Given the description of an element on the screen output the (x, y) to click on. 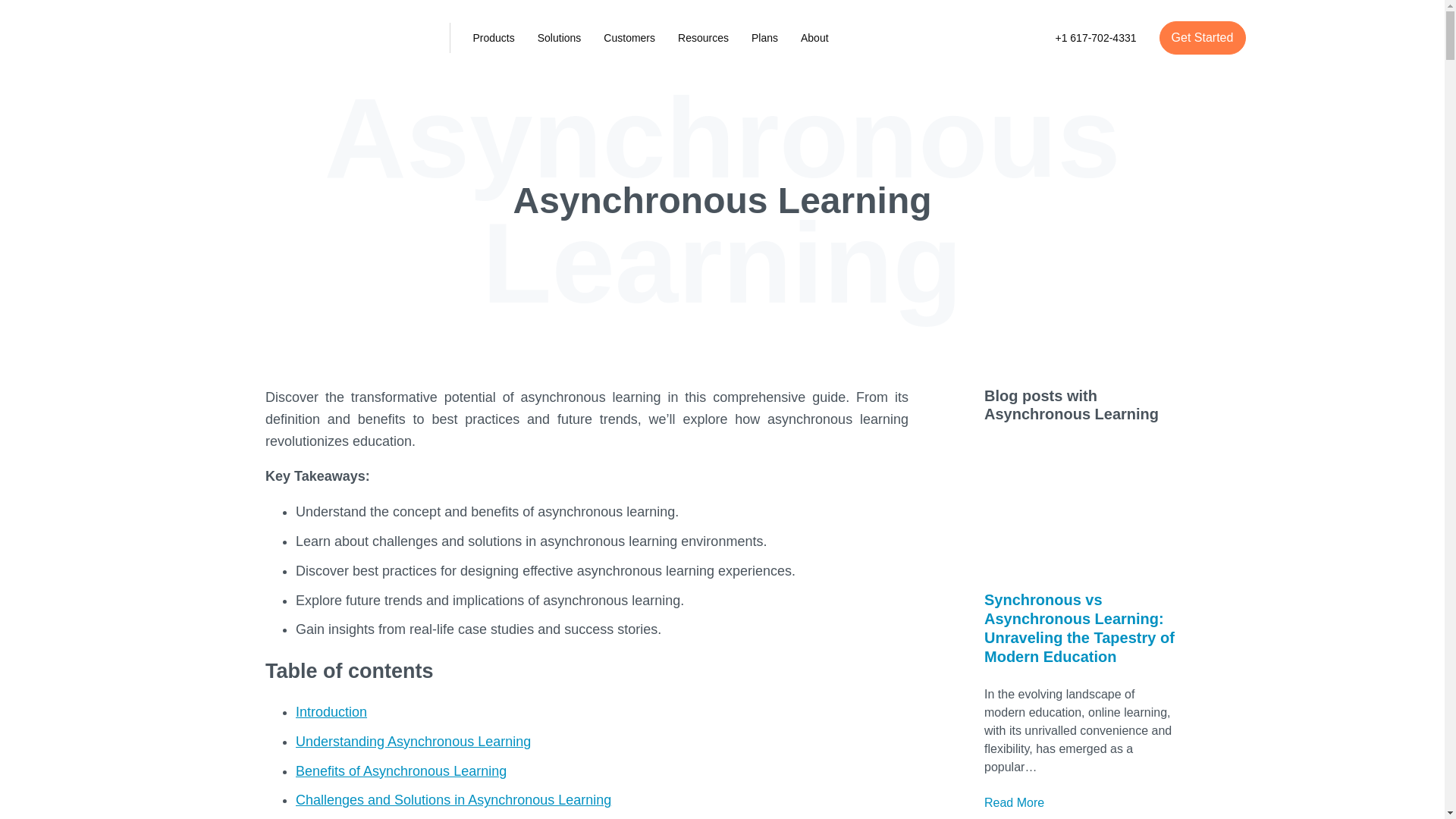
Plans (764, 37)
Understanding Asynchronous Learning (413, 741)
Benefits of Asynchronous Learning (400, 770)
Introduction (330, 711)
Customers (629, 37)
Challenges and Solutions in Asynchronous Learning (453, 799)
